Given the description of an element on the screen output the (x, y) to click on. 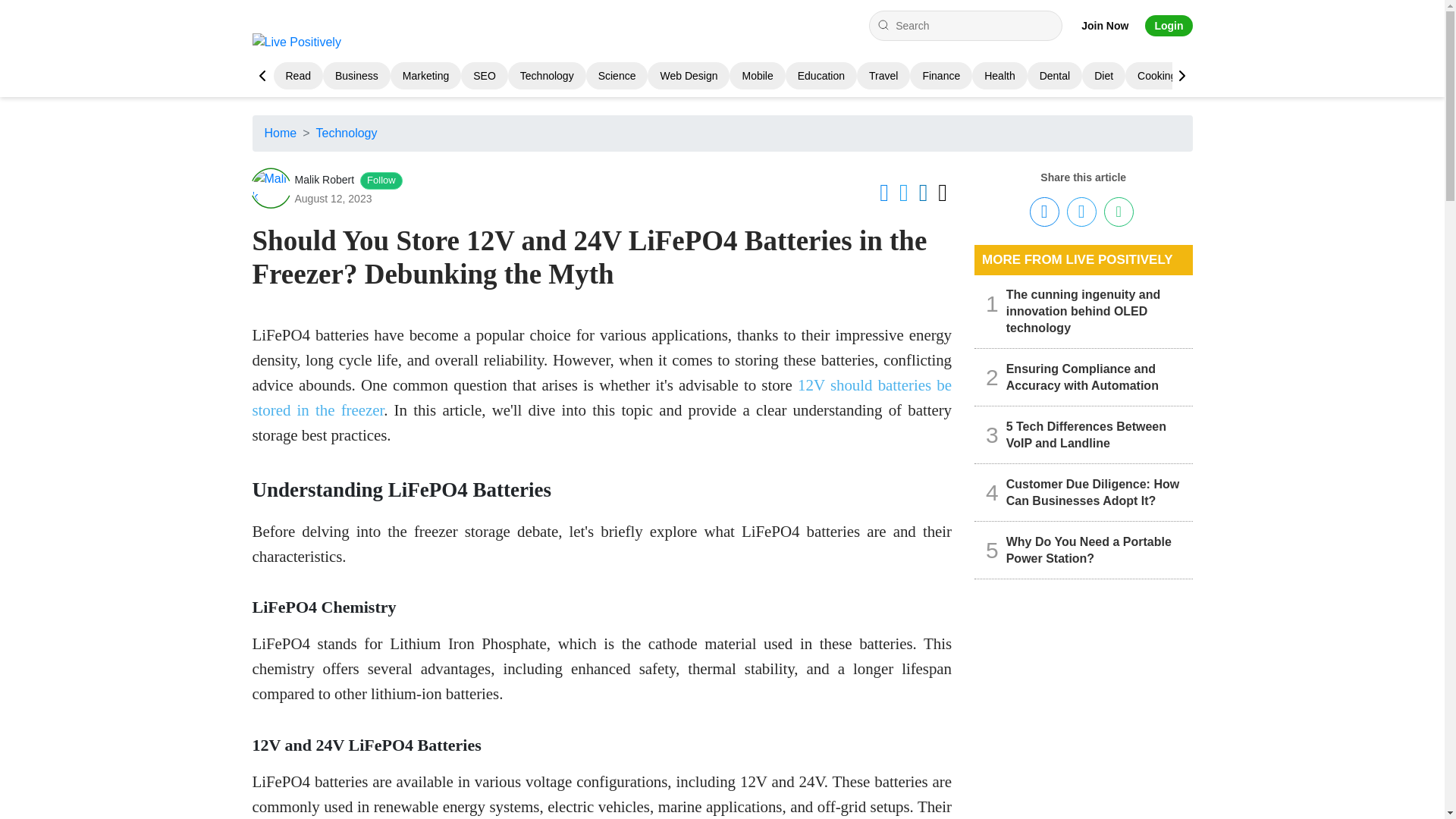
Dental (1054, 75)
Science (617, 75)
Share via Twitter (1081, 211)
Mobile (757, 75)
Diet (1103, 75)
Cooking (1156, 75)
Technology (546, 75)
Share via Email (1118, 211)
Education (820, 75)
Business (356, 75)
